Given the description of an element on the screen output the (x, y) to click on. 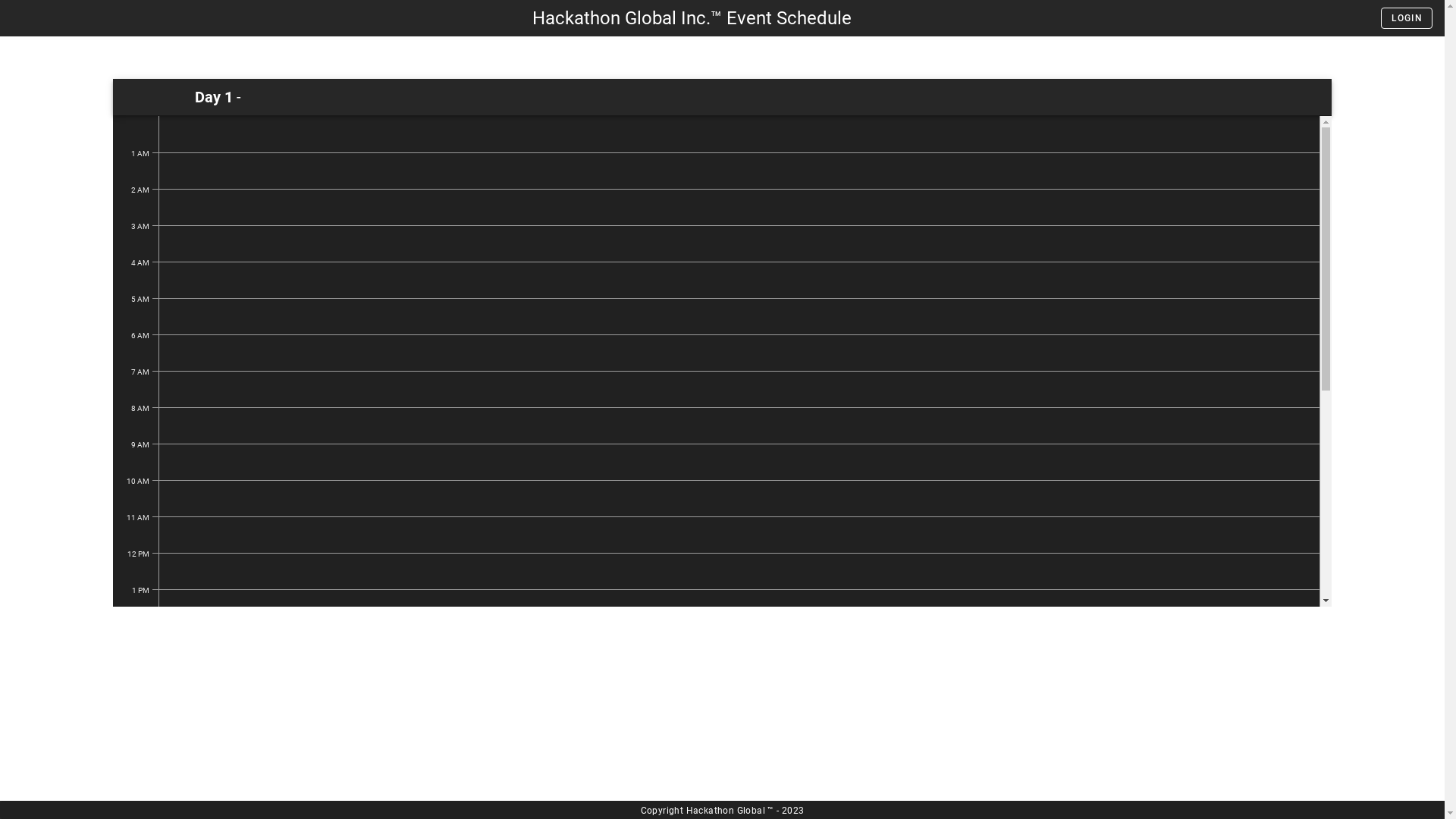
LOGIN Element type: text (1406, 17)
